Given the description of an element on the screen output the (x, y) to click on. 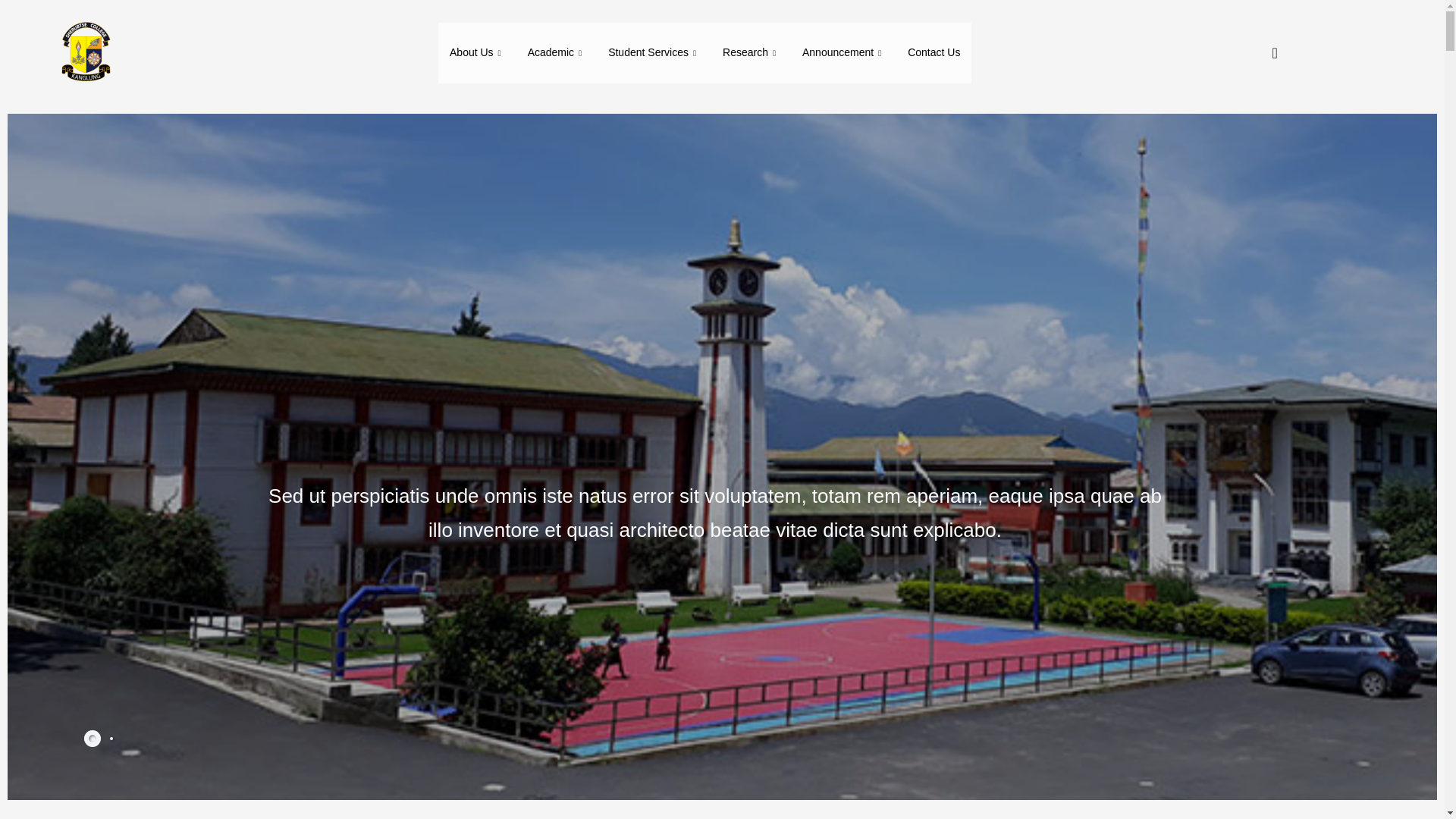
Student Services (653, 52)
Contact Us (933, 52)
Academic (556, 52)
logo-removebg-preview-1 (84, 52)
Research (750, 52)
Announcement (843, 52)
About Us (477, 52)
